Given the description of an element on the screen output the (x, y) to click on. 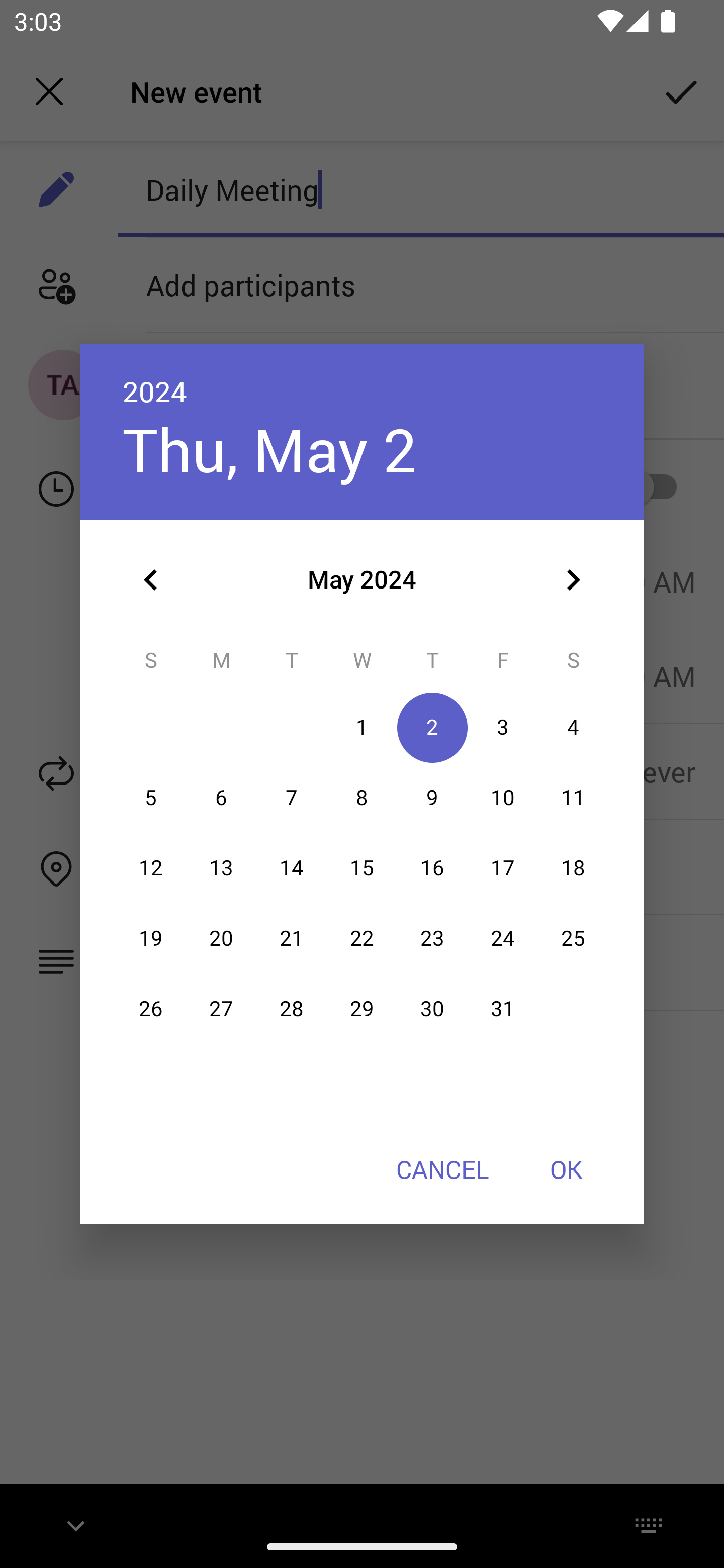
2024 (154, 391)
Thu, May 2 (269, 449)
Previous month (150, 579)
Next month (572, 579)
1 01 May 2024 (361, 728)
2 02 May 2024 (432, 728)
3 03 May 2024 (502, 728)
4 04 May 2024 (572, 728)
5 05 May 2024 (150, 797)
6 06 May 2024 (221, 797)
7 07 May 2024 (291, 797)
8 08 May 2024 (361, 797)
9 09 May 2024 (432, 797)
10 10 May 2024 (502, 797)
11 11 May 2024 (572, 797)
12 12 May 2024 (150, 867)
13 13 May 2024 (221, 867)
14 14 May 2024 (291, 867)
15 15 May 2024 (361, 867)
16 16 May 2024 (432, 867)
17 17 May 2024 (502, 867)
18 18 May 2024 (572, 867)
19 19 May 2024 (150, 938)
20 20 May 2024 (221, 938)
21 21 May 2024 (291, 938)
22 22 May 2024 (361, 938)
23 23 May 2024 (432, 938)
24 24 May 2024 (502, 938)
25 25 May 2024 (572, 938)
26 26 May 2024 (150, 1008)
27 27 May 2024 (221, 1008)
28 28 May 2024 (291, 1008)
29 29 May 2024 (361, 1008)
30 30 May 2024 (432, 1008)
31 31 May 2024 (502, 1008)
CANCEL (442, 1168)
OK (565, 1168)
